Given the description of an element on the screen output the (x, y) to click on. 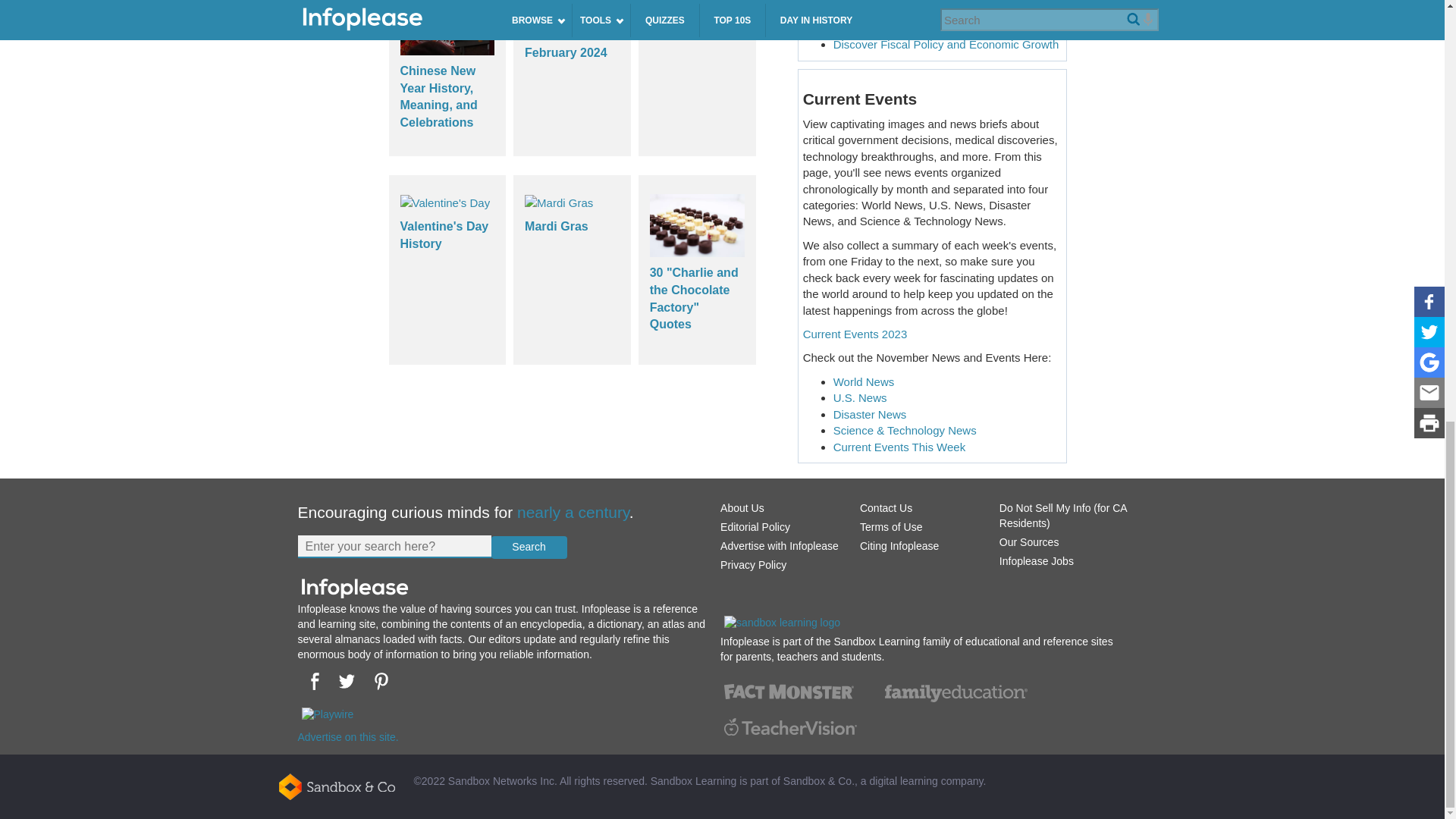
Search (529, 547)
